Given the description of an element on the screen output the (x, y) to click on. 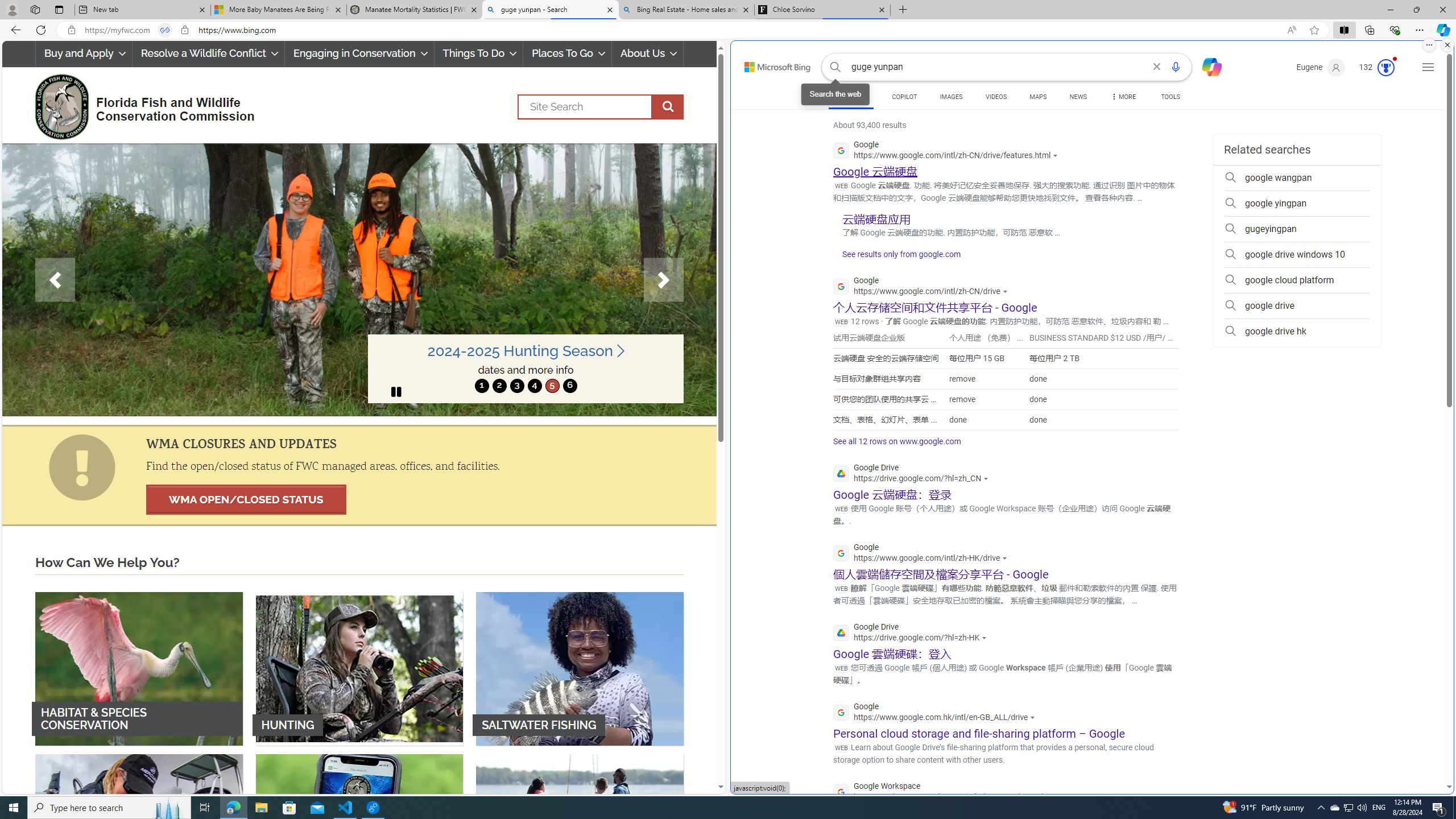
HABITAT & SPECIES CONSERVATION (138, 668)
Chat (1207, 65)
NEWS (1078, 96)
IMAGES (950, 96)
Search button (835, 66)
TOOLS (1171, 96)
Chat (1207, 65)
Buy and Apply (84, 53)
